Given the description of an element on the screen output the (x, y) to click on. 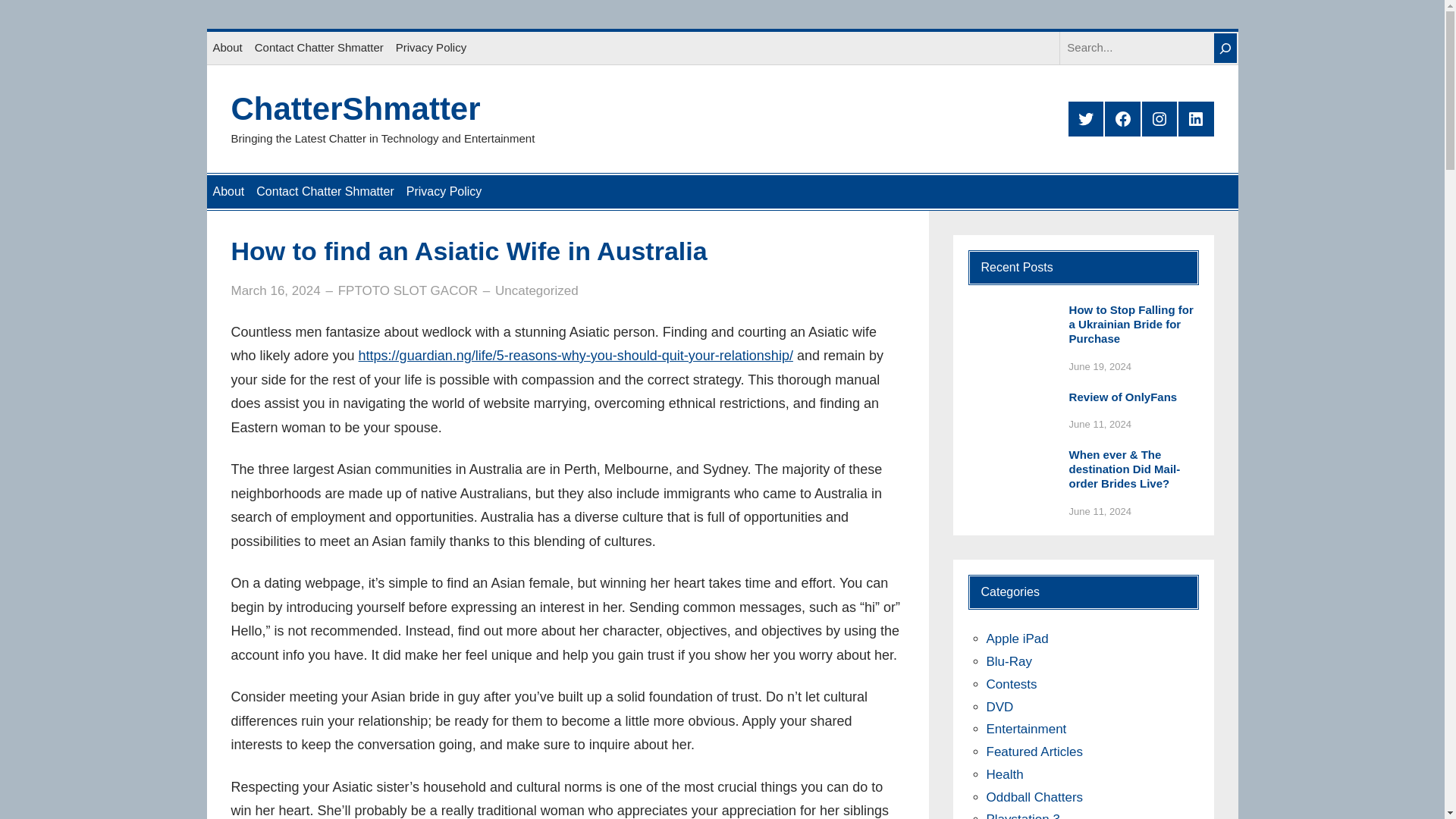
LinkedIn (1194, 118)
June 11, 2024 (1099, 423)
DVD (999, 707)
Health (1004, 774)
Review of OnlyFans (1122, 397)
Apple iPad (1016, 638)
Privacy Policy (443, 191)
Uncategorized (536, 290)
Oddball Chatters (1034, 797)
March 16, 2024 (275, 290)
About (228, 191)
About (226, 47)
Contact Chatter Shmatter (319, 47)
Featured Articles (1034, 751)
Contests (1010, 684)
